Given the description of an element on the screen output the (x, y) to click on. 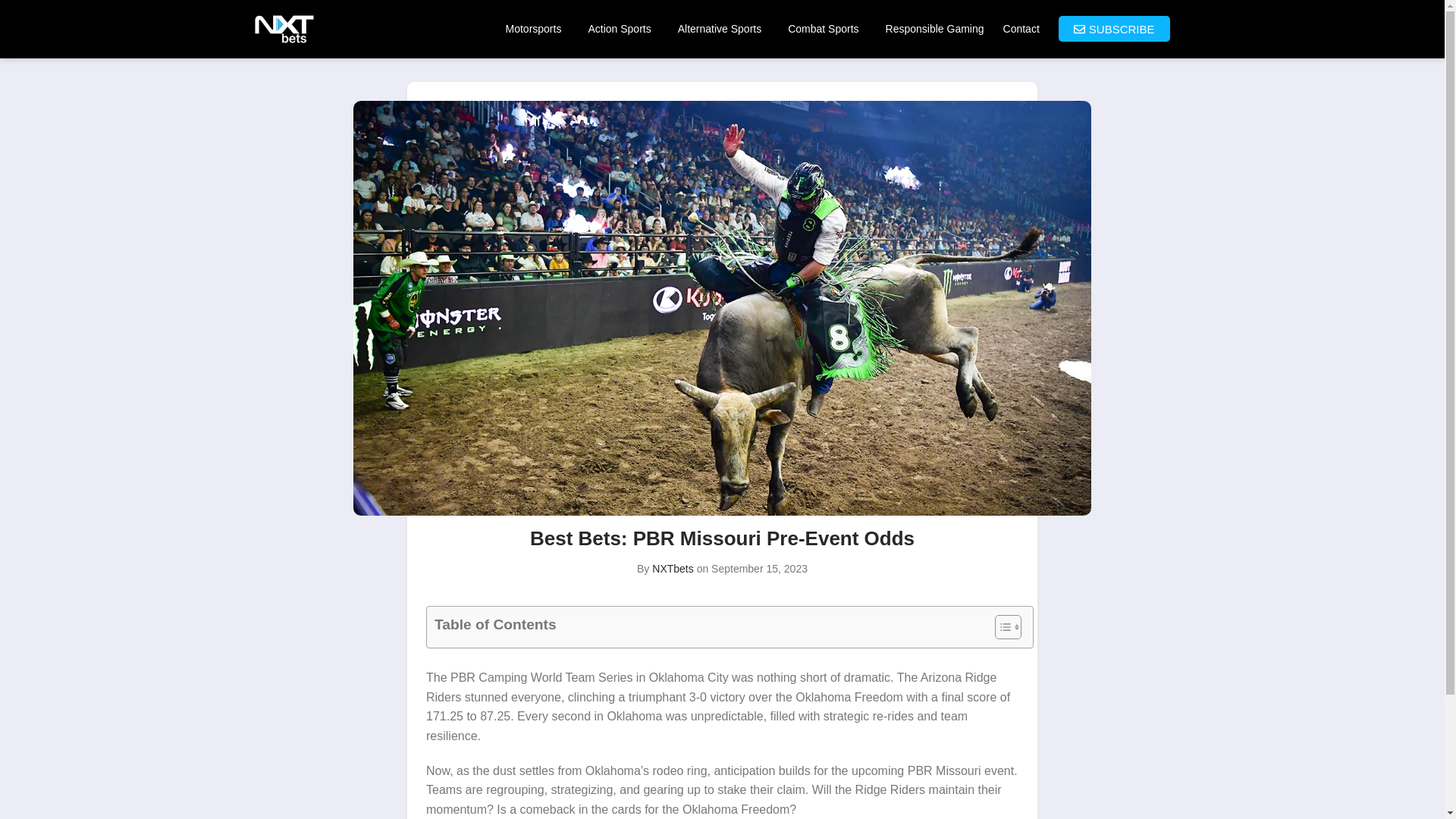
Responsible Gaming (934, 29)
Combat Sports (826, 29)
SUBSCRIBE (1114, 28)
Action Sports (622, 29)
Contact (1020, 29)
Alternative Sports (723, 29)
Posts by NXTbets (672, 568)
Motorsports (536, 29)
